Given the description of an element on the screen output the (x, y) to click on. 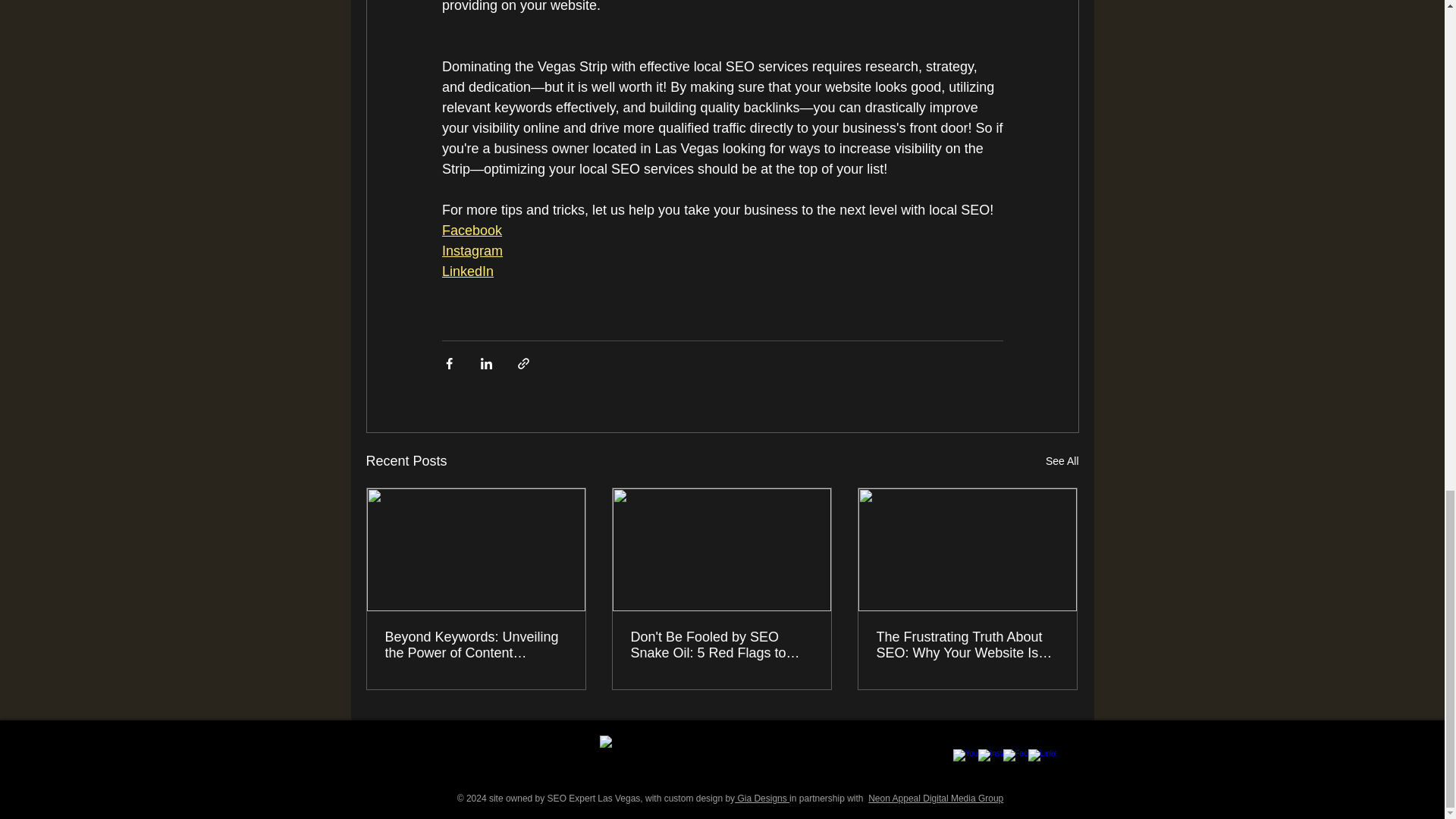
Gia Designs  (762, 798)
LinkedIn (467, 271)
See All (1061, 461)
Neon Appeal Digital Media Group (935, 798)
Instagram (471, 250)
Facebook (470, 230)
